Given the description of an element on the screen output the (x, y) to click on. 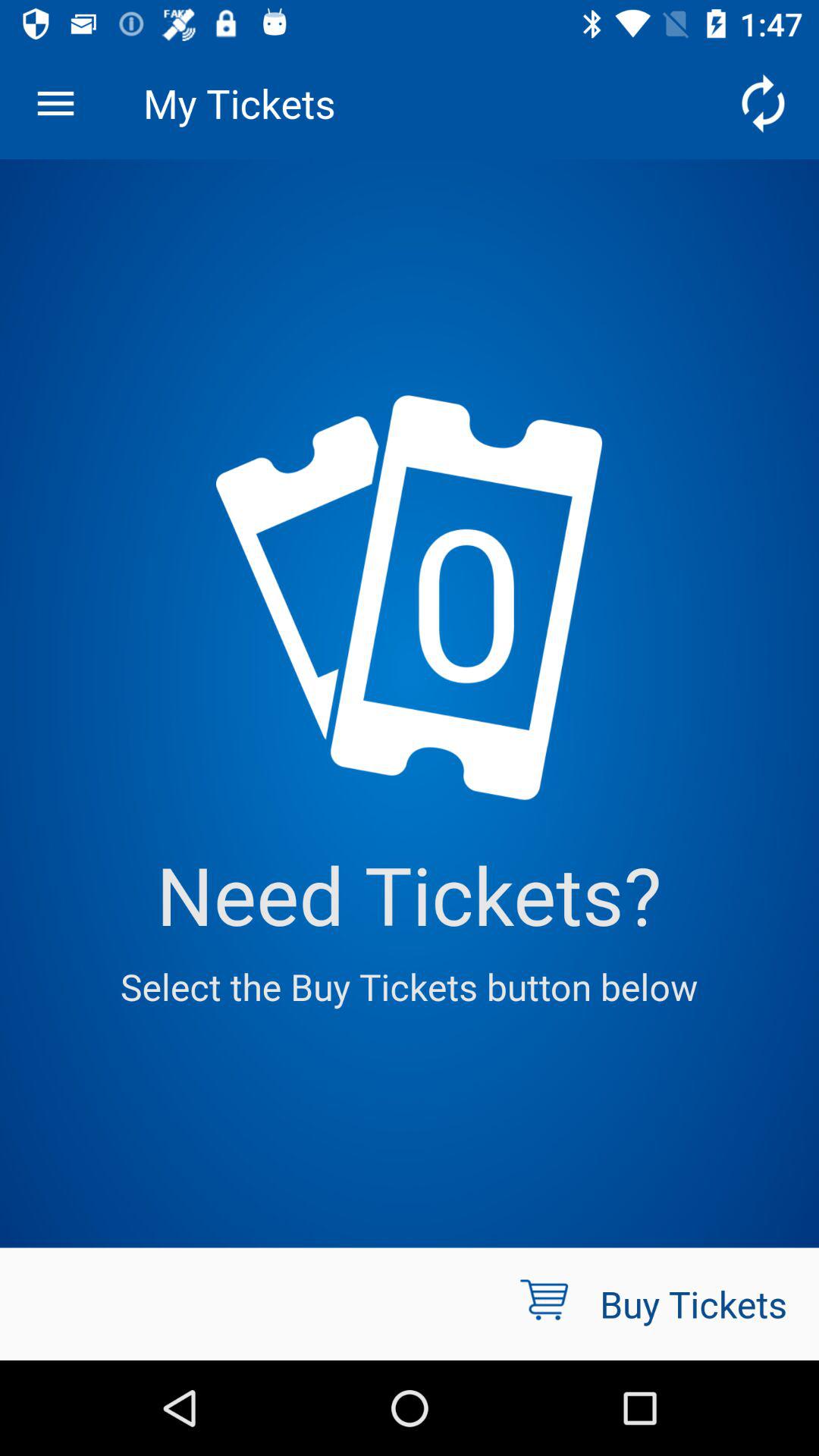
press the icon to the right of the my tickets (763, 103)
